Given the description of an element on the screen output the (x, y) to click on. 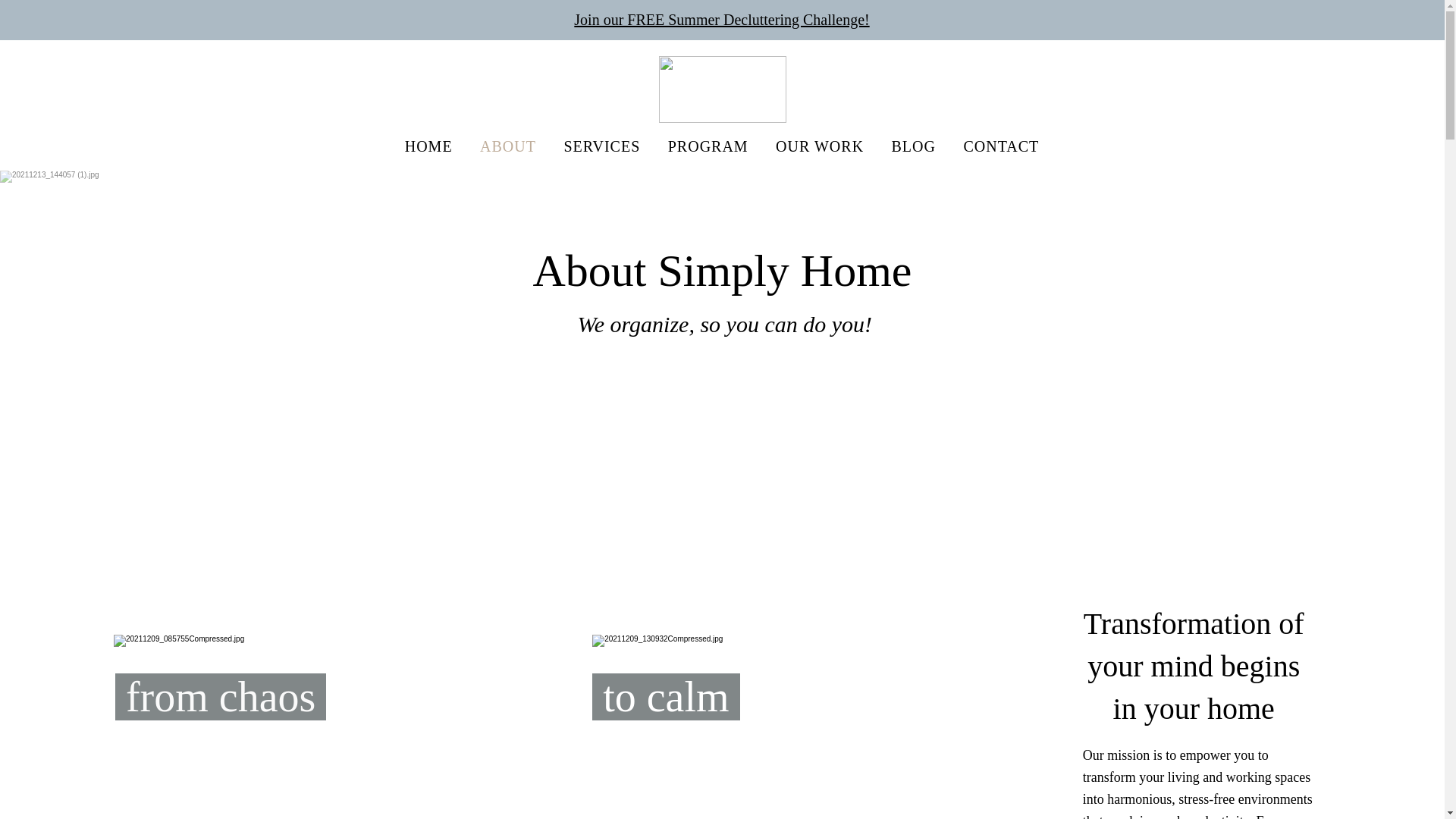
SERVICES (601, 146)
Join our FREE Summer Decluttering Challenge! (721, 19)
CONTACT (1000, 146)
ABOUT (507, 146)
OUR WORK (820, 146)
BLOG (913, 146)
PROGRAM (708, 146)
HOME (428, 146)
